Given the description of an element on the screen output the (x, y) to click on. 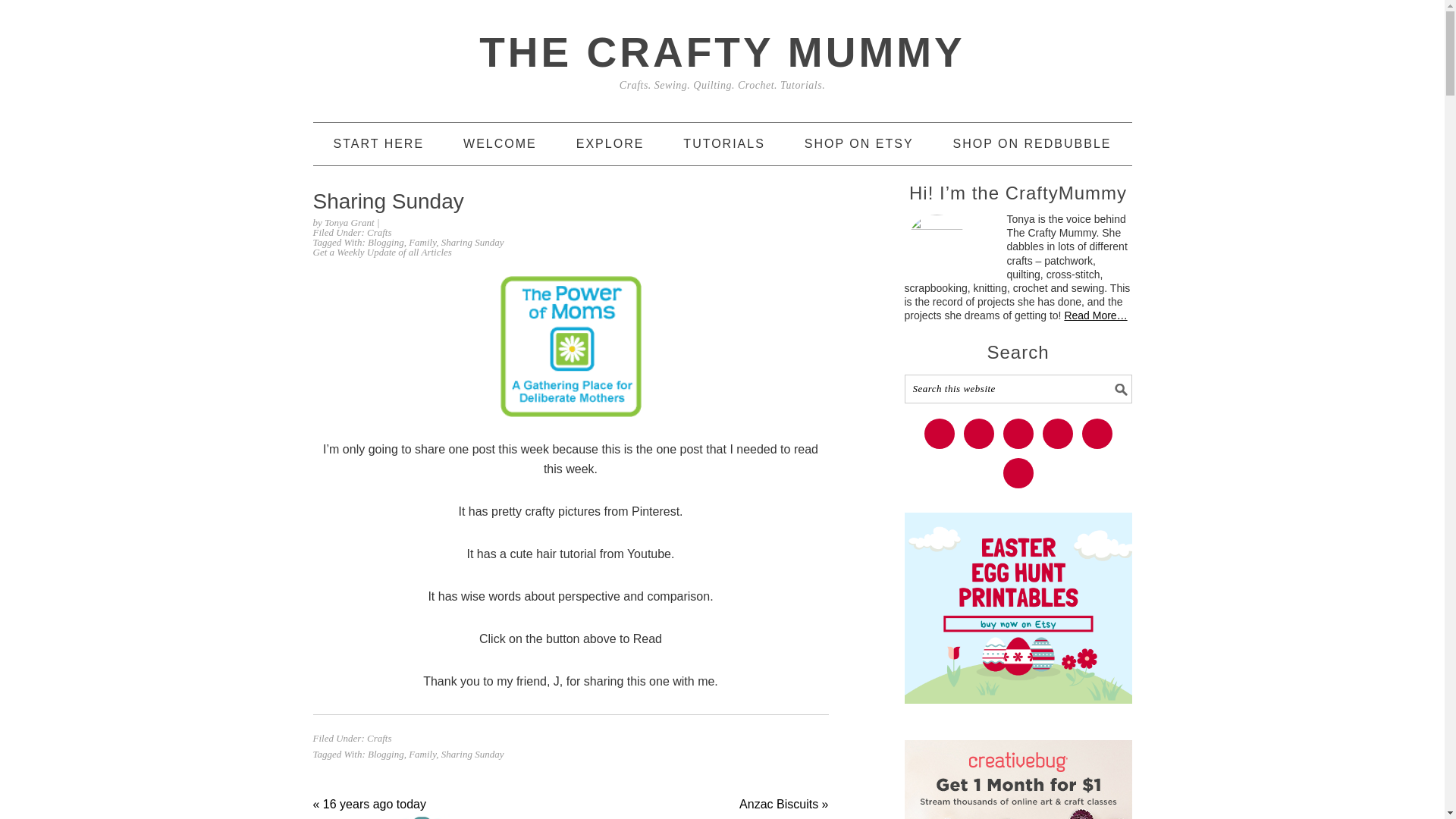
SHOP ON ETSY (859, 143)
Family (422, 242)
EXPLORE (610, 143)
TUTORIALS (723, 143)
Crafts (378, 232)
WELCOME (500, 143)
START HERE (379, 143)
Blogging (386, 242)
The Power of Moms: A Gathering Place for Deliberate Mothers (571, 346)
THE CRAFTY MUMMY (721, 52)
SHOP ON REDBUBBLE (1032, 143)
